Given the description of an element on the screen output the (x, y) to click on. 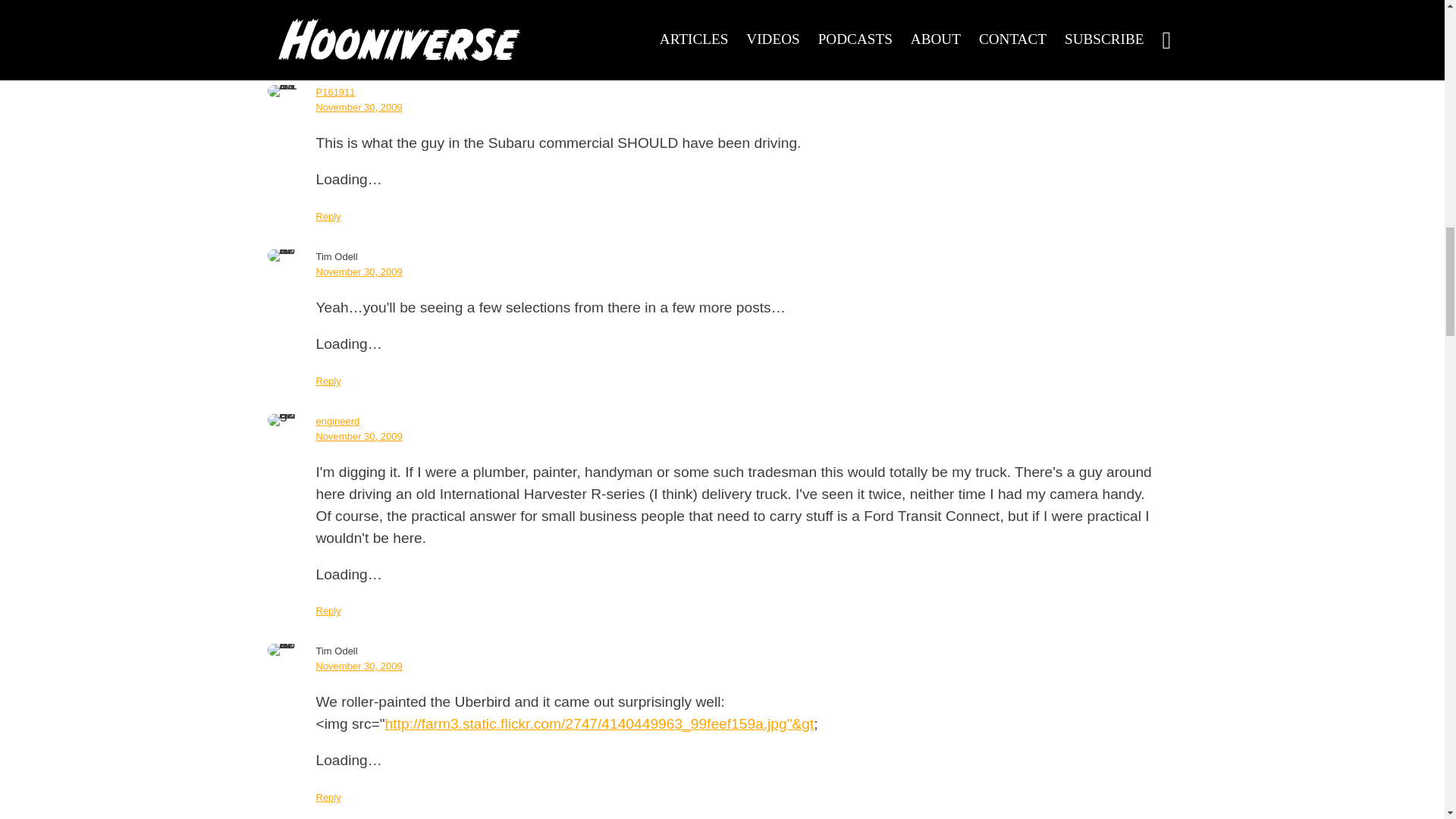
November 30, 2009 (358, 271)
November 30, 2009 (358, 665)
P161911 (335, 91)
Reply (327, 215)
Reply (327, 380)
Reply (327, 51)
November 30, 2009 (358, 436)
engineerd (337, 420)
Reply (327, 610)
November 30, 2009 (358, 107)
